Given the description of an element on the screen output the (x, y) to click on. 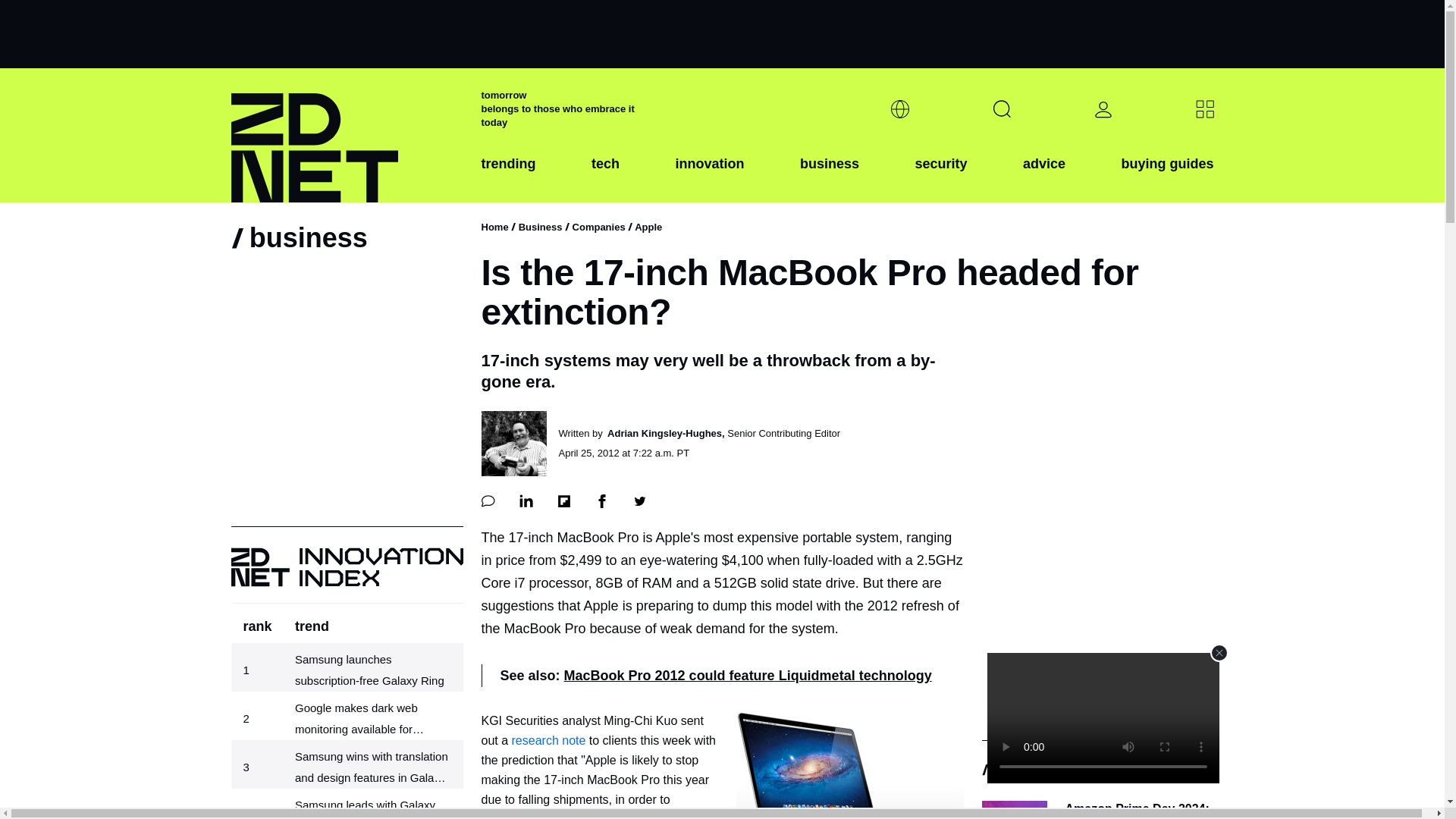
3rd party ad content (1097, 620)
3rd party ad content (721, 33)
trending (507, 175)
ZDNET (346, 134)
